Given the description of an element on the screen output the (x, y) to click on. 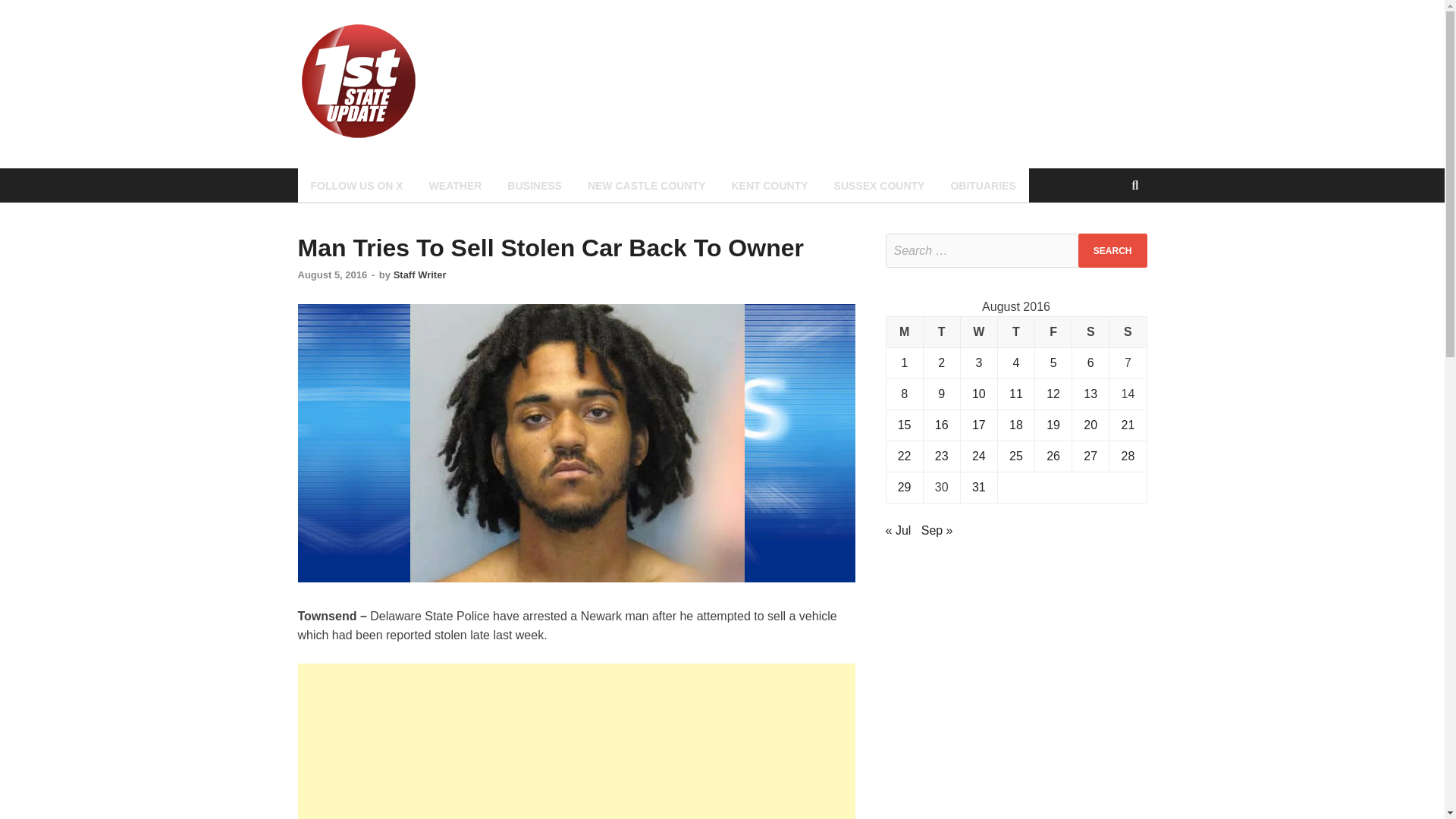
FOLLOW US ON X (355, 185)
Friday (1053, 332)
NEW CASTLE COUNTY (647, 185)
Search (1112, 250)
Search (1112, 250)
11 (1016, 393)
BUSINESS (535, 185)
Thursday (1015, 332)
OBITUARIES (982, 185)
Tuesday (941, 332)
Wednesday (978, 332)
Advertisement (575, 741)
Staff Writer (419, 274)
Search (1112, 250)
SUSSEX COUNTY (879, 185)
